Given the description of an element on the screen output the (x, y) to click on. 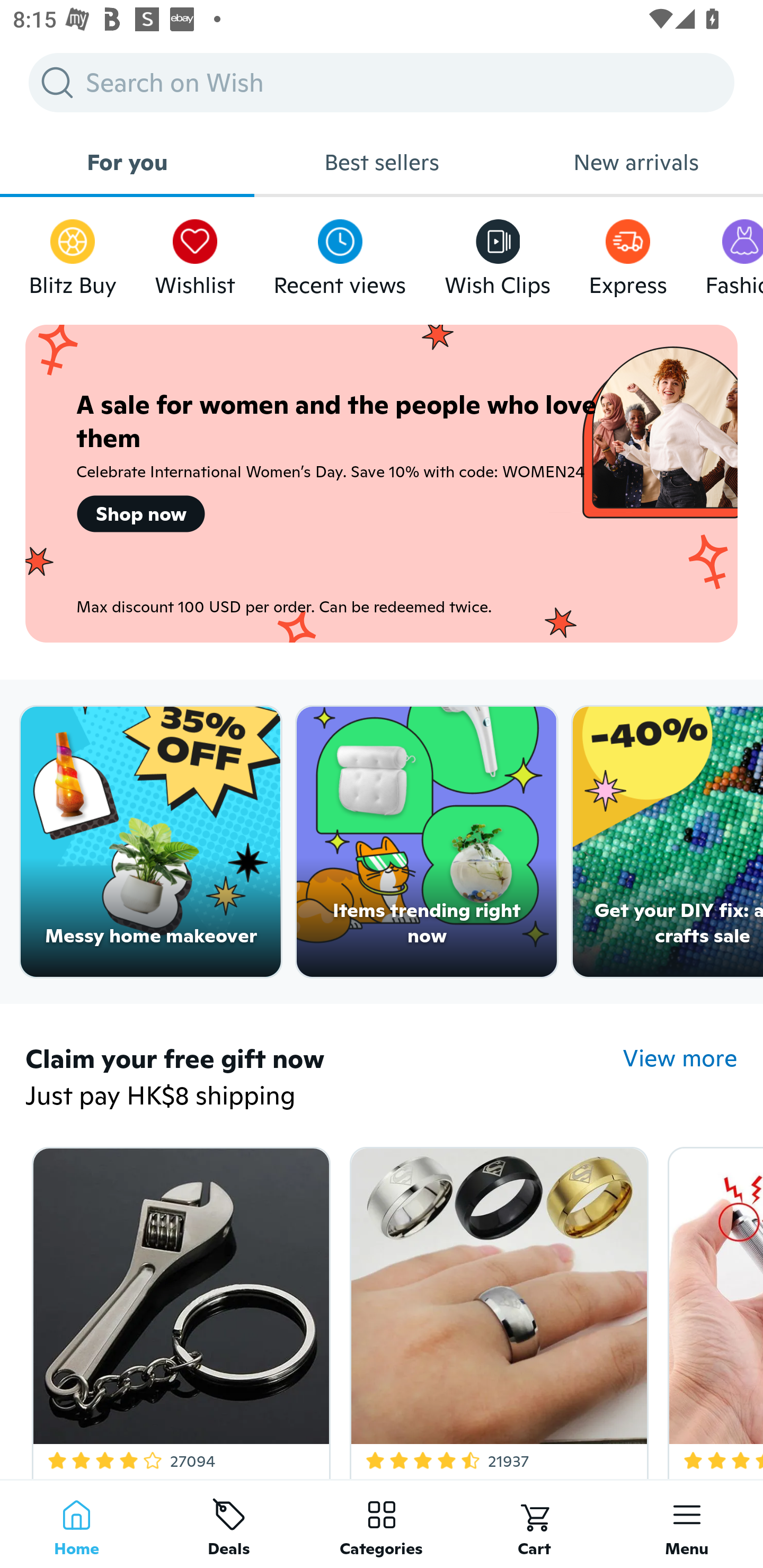
Search on Wish (381, 82)
For you (127, 161)
Best sellers (381, 161)
New arrivals (635, 161)
Blitz Buy (72, 252)
Wishlist (194, 252)
Recent views (339, 252)
Wish Clips (497, 252)
Express (627, 252)
Fashion (734, 252)
Messy home makeover (150, 841)
Items trending right now (426, 841)
Get your DIY fix: arts & crafts sale (668, 841)
Claim your free gift now
Just pay HK$8 shipping (323, 1078)
View more (679, 1058)
4 Star Rating 27094 Free (177, 1308)
4.3 Star Rating 21937 Free (495, 1308)
Home (76, 1523)
Deals (228, 1523)
Categories (381, 1523)
Cart (533, 1523)
Menu (686, 1523)
